Given the description of an element on the screen output the (x, y) to click on. 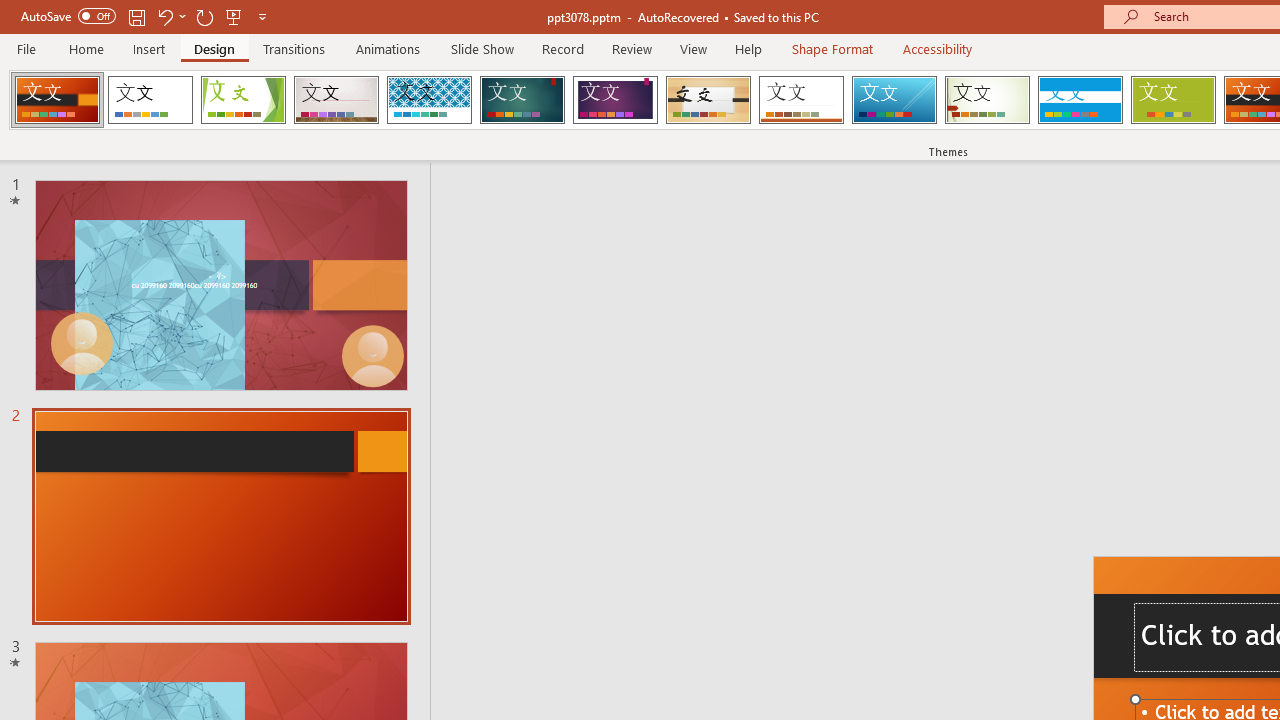
Facet (243, 100)
Ion (522, 100)
Slice (893, 100)
Ion Boardroom (615, 100)
